Given the description of an element on the screen output the (x, y) to click on. 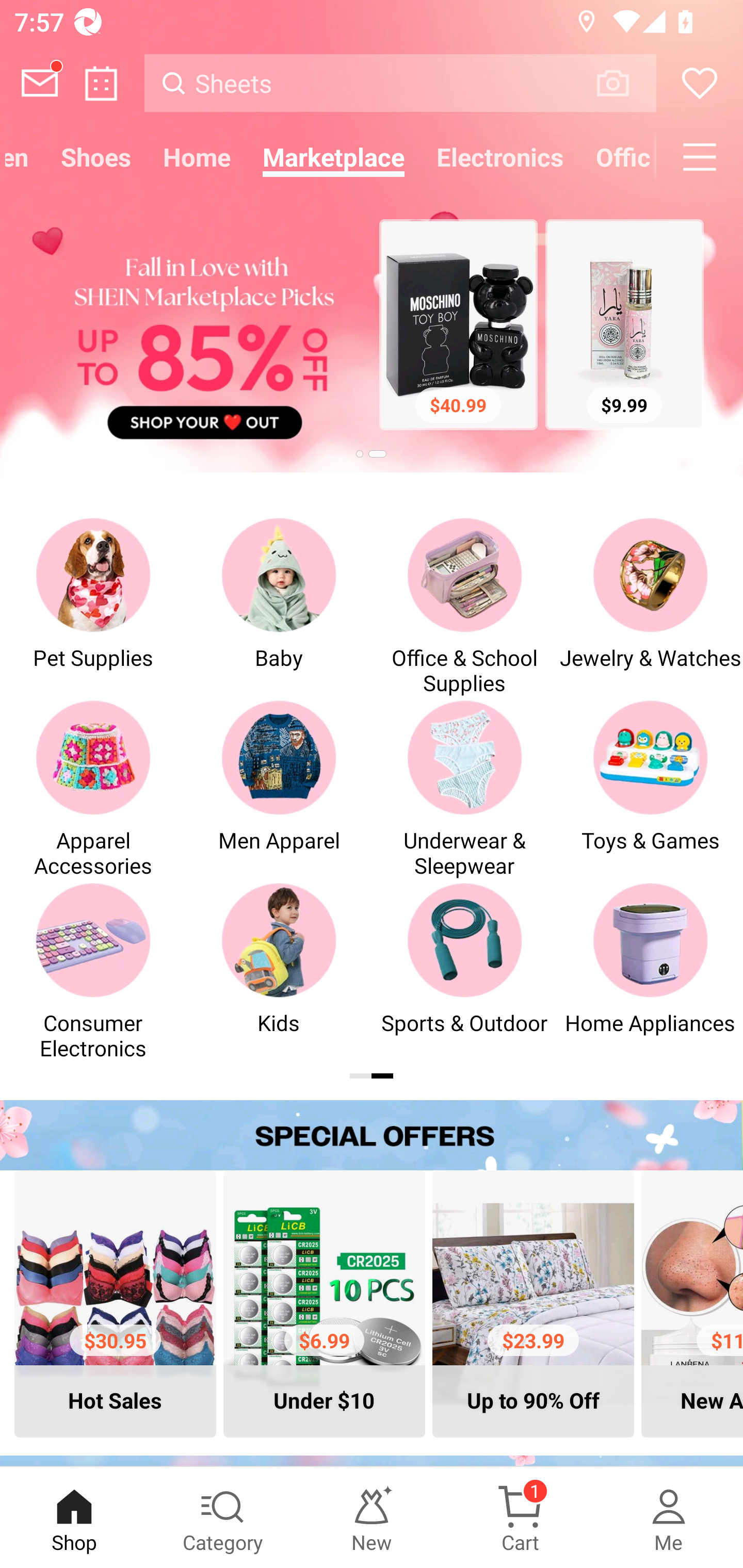
Wishlist (699, 82)
VISUAL SEARCH (623, 82)
Shoes (95, 156)
Home (196, 156)
Marketplace (333, 156)
Electronics (500, 156)
Office (618, 156)
$40.99 $9.99 (371, 327)
Pet Supplies (92, 605)
Baby (278, 605)
Office & School Supplies (464, 605)
Jewelry & Watches (650, 605)
Apparel Accessories (92, 788)
Men Apparel (278, 788)
Underwear & Sleepwear (464, 788)
Toys & Games (650, 788)
Consumer Electronics (92, 971)
Kids (278, 971)
Sports & Outdoor (464, 971)
Home Appliances (650, 971)
$30.95 Hot Sales (115, 1303)
$6.99 Under $10 (323, 1303)
$23.99 Up to 90% Off (532, 1303)
Category (222, 1517)
New (371, 1517)
Cart 1 Cart (519, 1517)
Me (668, 1517)
